Given the description of an element on the screen output the (x, y) to click on. 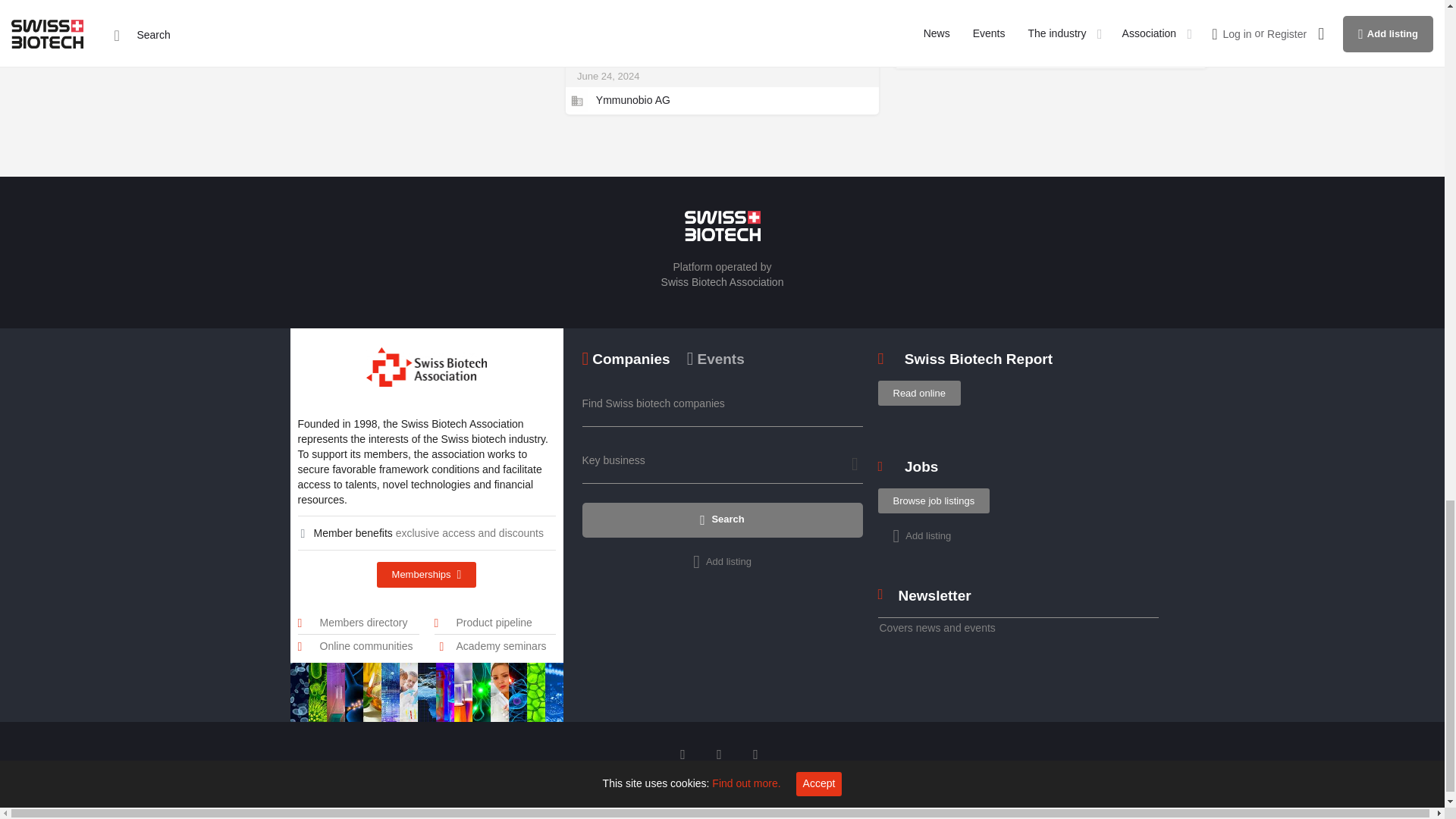
swiss-biotech-logo-neg (722, 225)
